Given the description of an element on the screen output the (x, y) to click on. 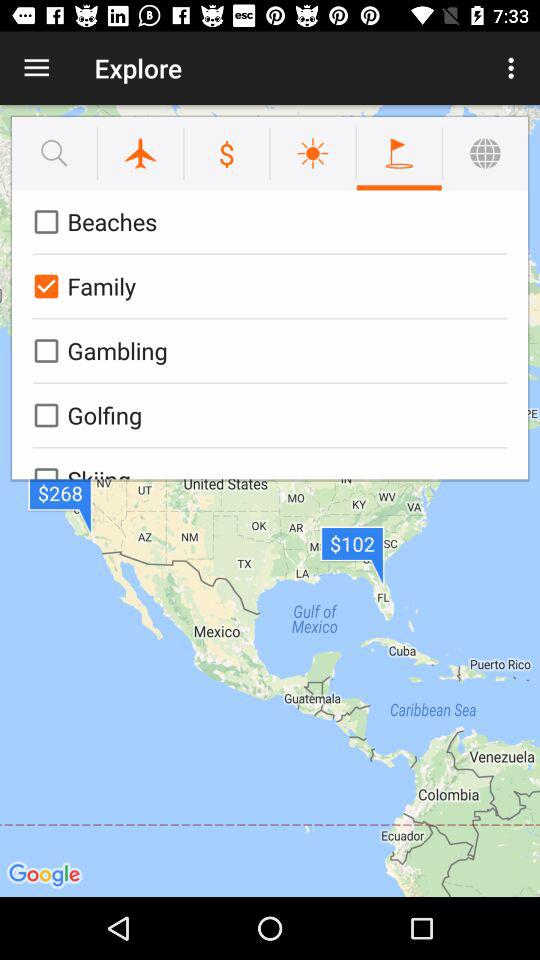
jump to the skiing icon (266, 463)
